Given the description of an element on the screen output the (x, y) to click on. 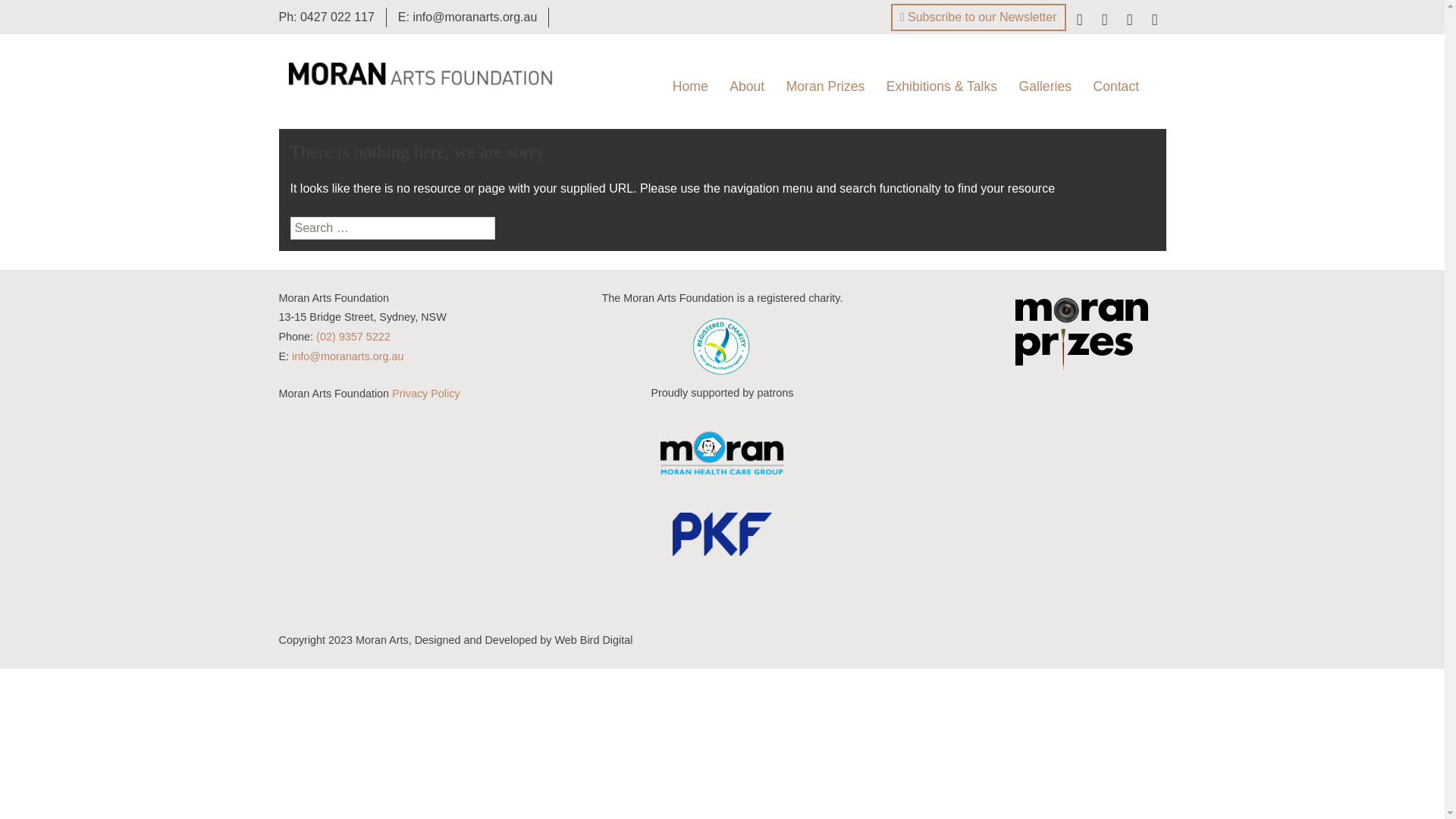
Subscribe to our Newsletter Element type: text (978, 17)
Contact Element type: text (1115, 86)
Tweet with us on Twitter Element type: hover (1104, 20)
Exhibitions & Talks Element type: text (941, 86)
info@moranarts.org.au Element type: text (347, 356)
Moran Gallery Sylvania Element type: text (1084, 128)
Galleries Element type: text (1045, 86)
Follow our Youtube channel Element type: hover (1154, 20)
Follow us on Instagram Element type: hover (1128, 20)
Privacy Policy Element type: text (426, 393)
E: info@moranarts.org.au Element type: text (467, 16)
Moran Prizes Element type: text (825, 86)
Back to Moran Arts homepage  Element type: hover (420, 74)
Like us on Facebook Element type: hover (1078, 20)
About Element type: text (746, 86)
Home Element type: text (690, 86)
Web Bird Digital Element type: text (593, 639)
Search Element type: text (37, 15)
Ph: 0427 022 117 Element type: text (326, 16)
(02) 9357 5222 Element type: text (353, 336)
